Given the description of an element on the screen output the (x, y) to click on. 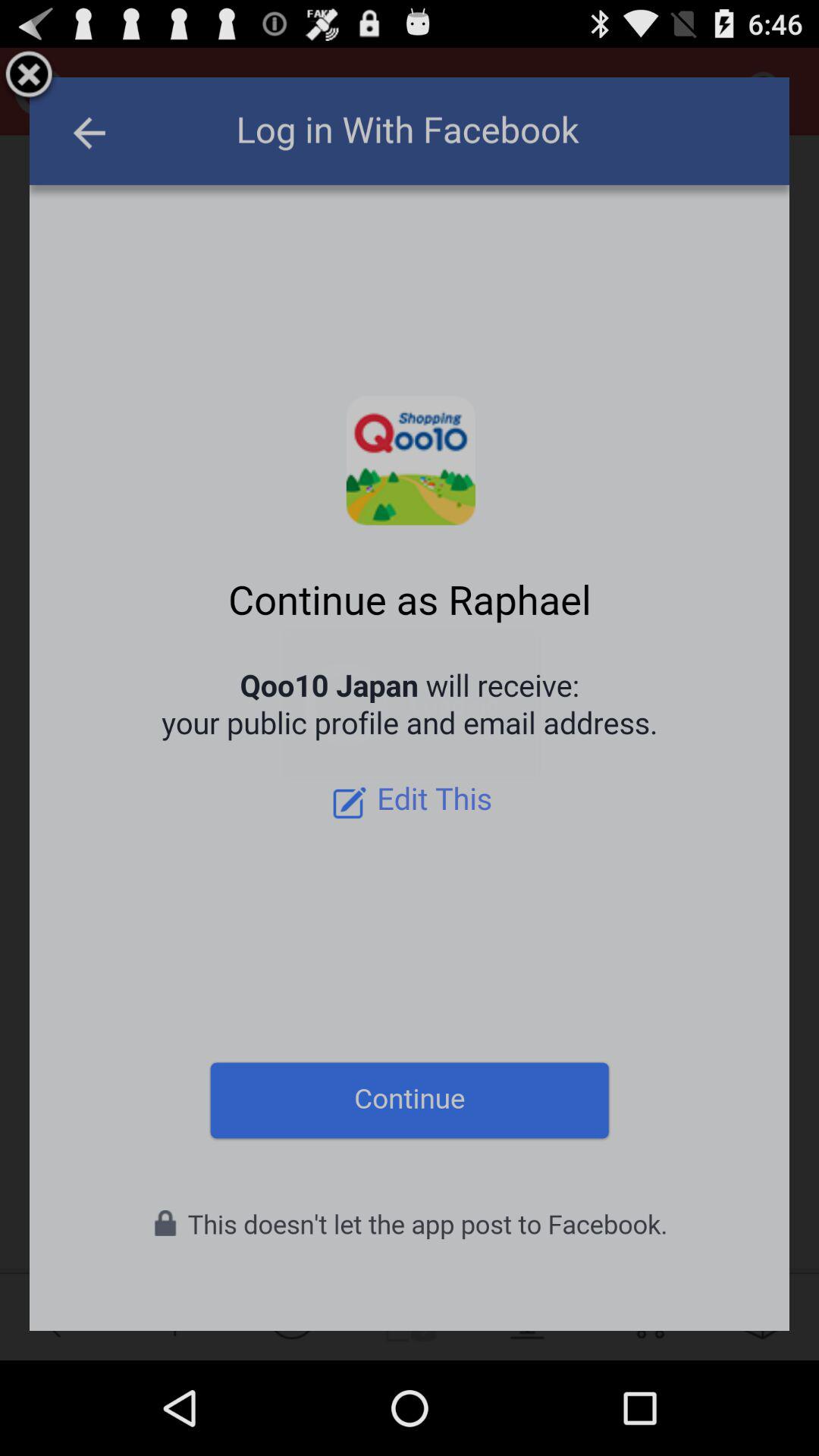
exit out (29, 76)
